Given the description of an element on the screen output the (x, y) to click on. 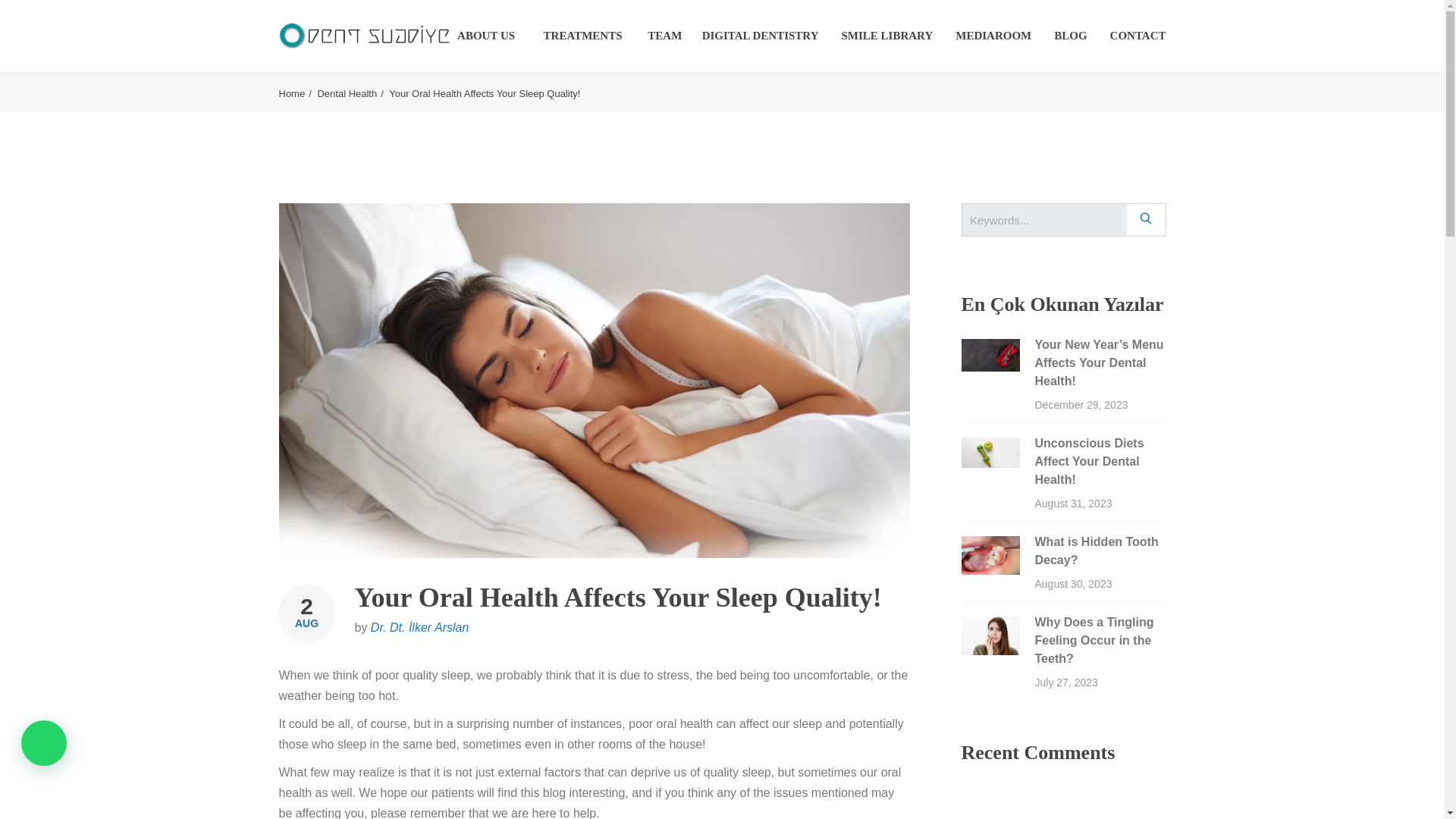
MEDIAROOM (992, 35)
Home (296, 93)
ABOUT US (486, 35)
Make Appointment Request (1245, 404)
TREATMENTS (584, 35)
TEAM (665, 35)
DIGITAL DENTISTRY (759, 35)
CONTACT (1137, 35)
Dental Health (351, 93)
SMILE LIBRARY (887, 35)
